Given the description of an element on the screen output the (x, y) to click on. 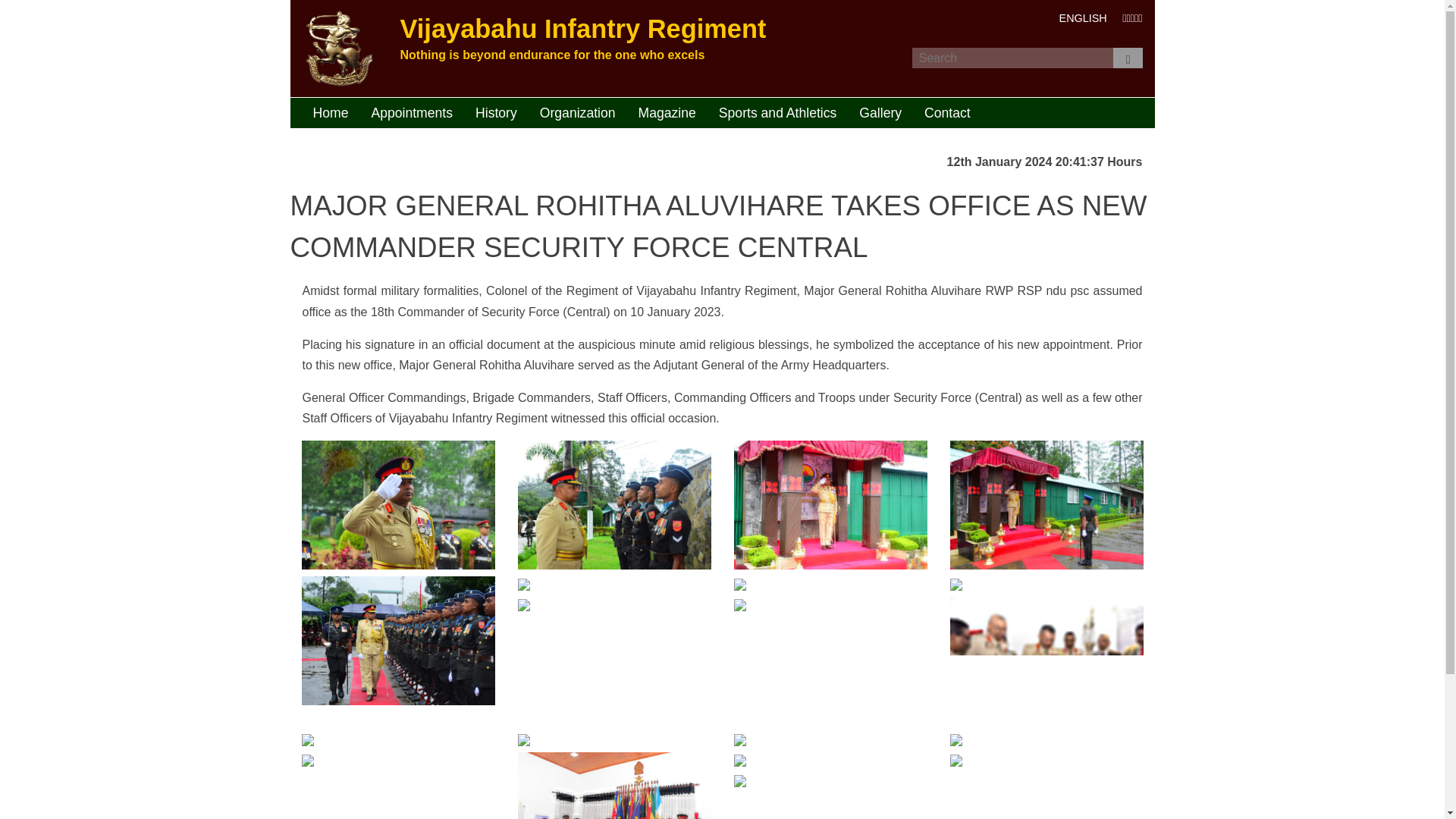
Sports and Athletics (777, 112)
Home (330, 112)
Organization (577, 112)
Contact (946, 112)
Gallery (879, 112)
History (496, 112)
Appointments (411, 112)
ENGLISH (1082, 18)
Magazine (667, 112)
